Given the description of an element on the screen output the (x, y) to click on. 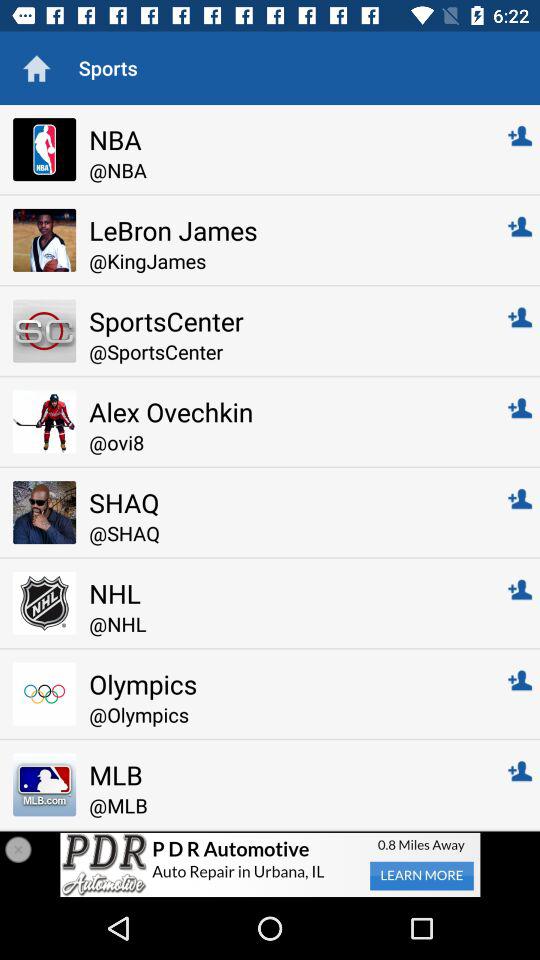
choose icon above shaq icon (284, 442)
